Given the description of an element on the screen output the (x, y) to click on. 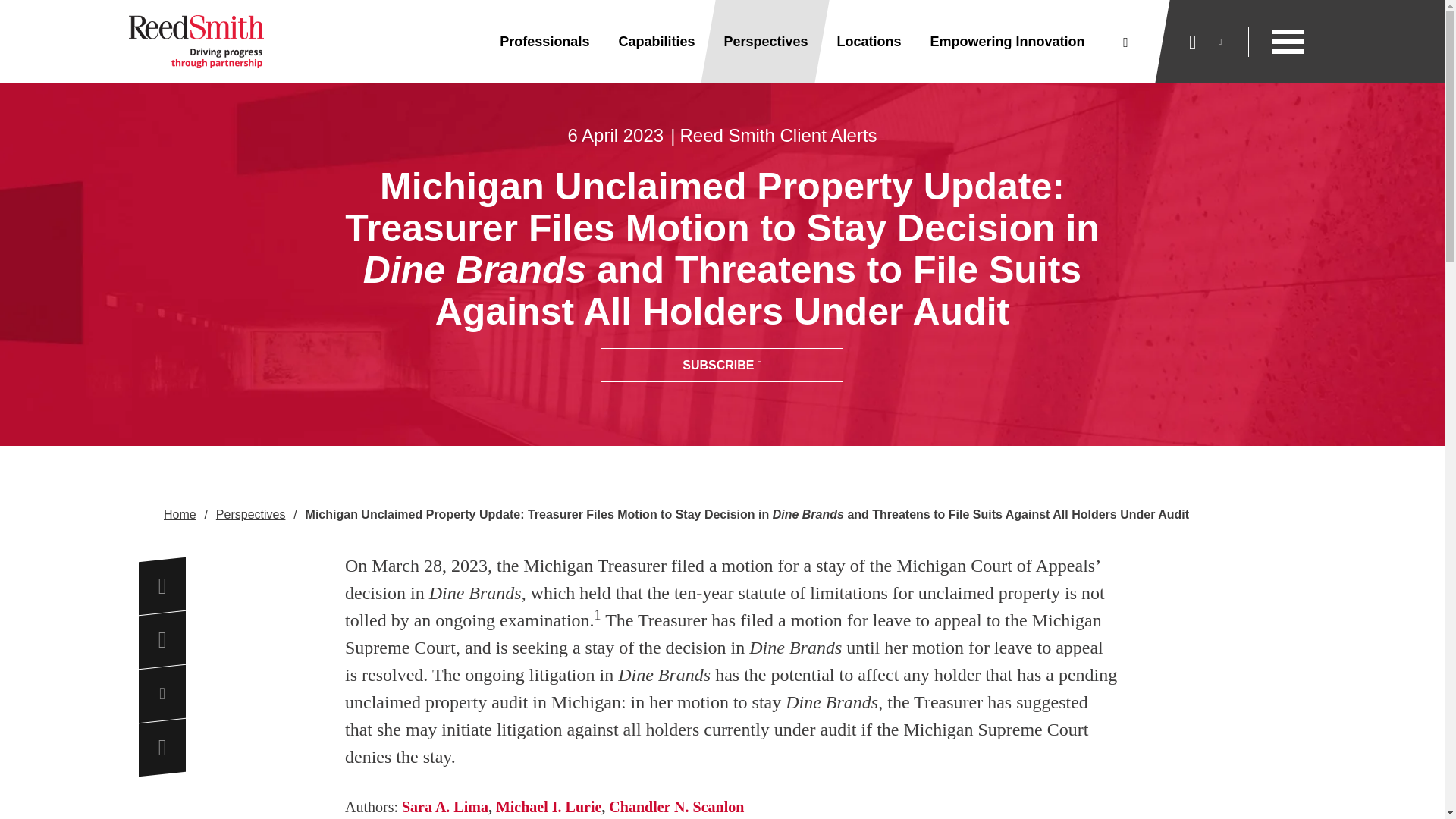
Authors: Sara A. Lima Michael I. Lurie Chandler N. Scanlon (731, 806)
Professionals (544, 41)
Capabilities (656, 41)
